Given the description of an element on the screen output the (x, y) to click on. 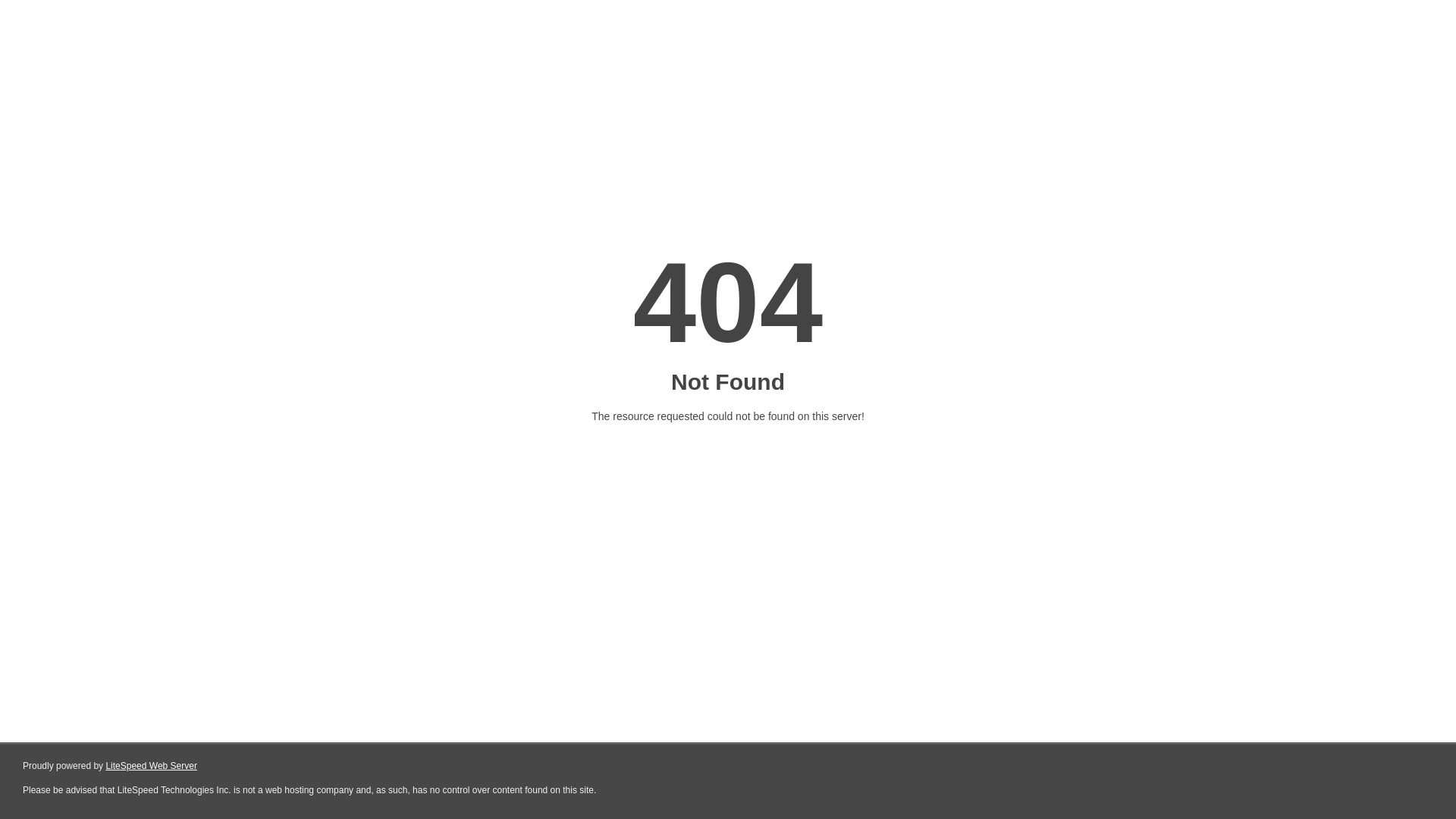
LiteSpeed Web Server Element type: text (151, 765)
